Given the description of an element on the screen output the (x, y) to click on. 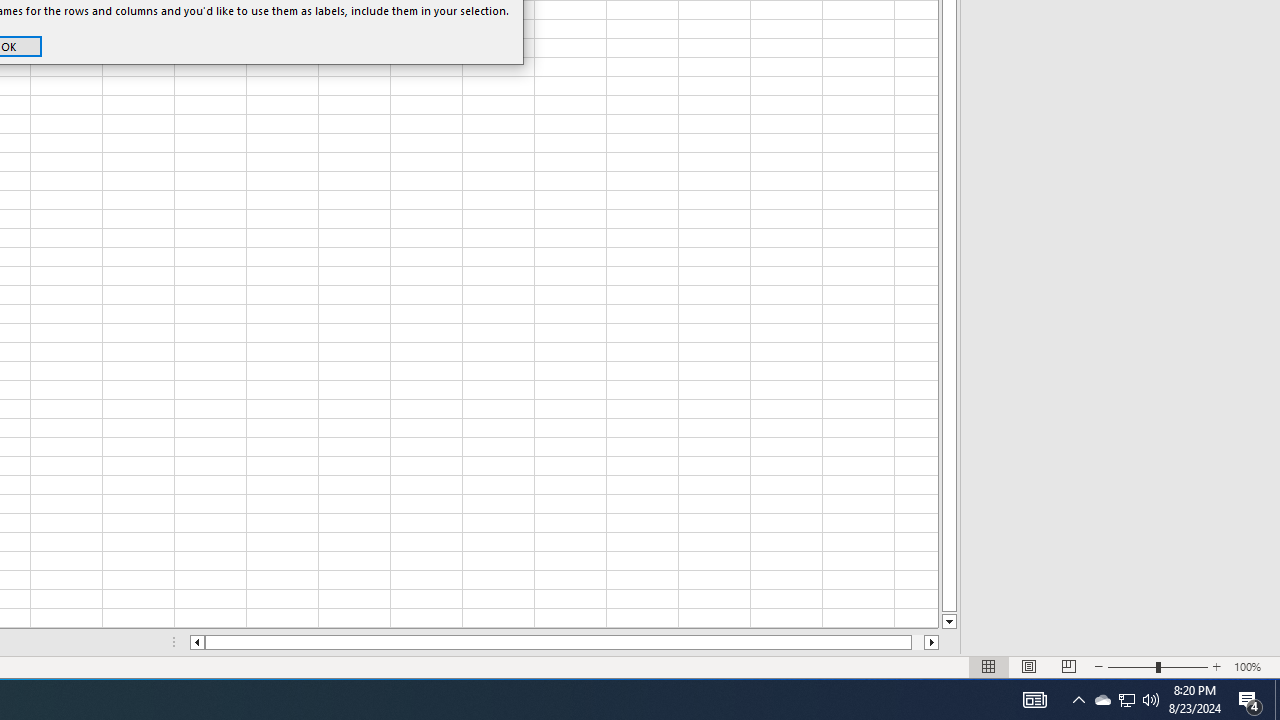
User Promoted Notification Area (1126, 699)
Zoom (1158, 667)
AutomationID: 4105 (1102, 699)
Page Break Preview (1126, 699)
Zoom In (1034, 699)
Q2790: 100% (1069, 667)
Column right (1217, 667)
Line down (1151, 699)
Zoom Out (932, 642)
Notification Chevron (948, 622)
Normal (1131, 667)
